Given the description of an element on the screen output the (x, y) to click on. 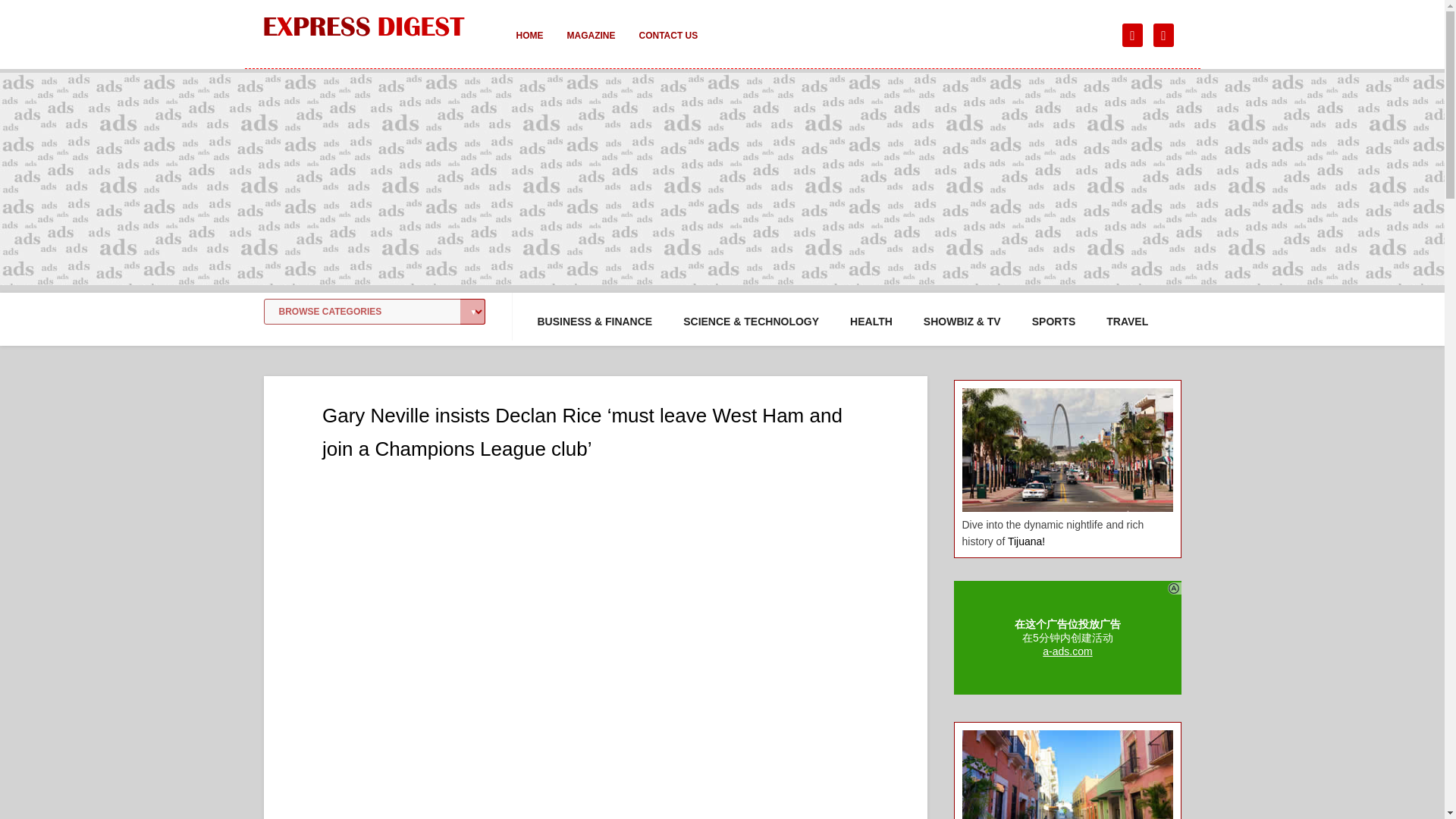
Tijuana! (1026, 541)
CONTACT US (667, 45)
HEALTH (871, 321)
MAGAZINE (590, 45)
TRAVEL (1127, 321)
SPORTS (1053, 321)
